Given the description of an element on the screen output the (x, y) to click on. 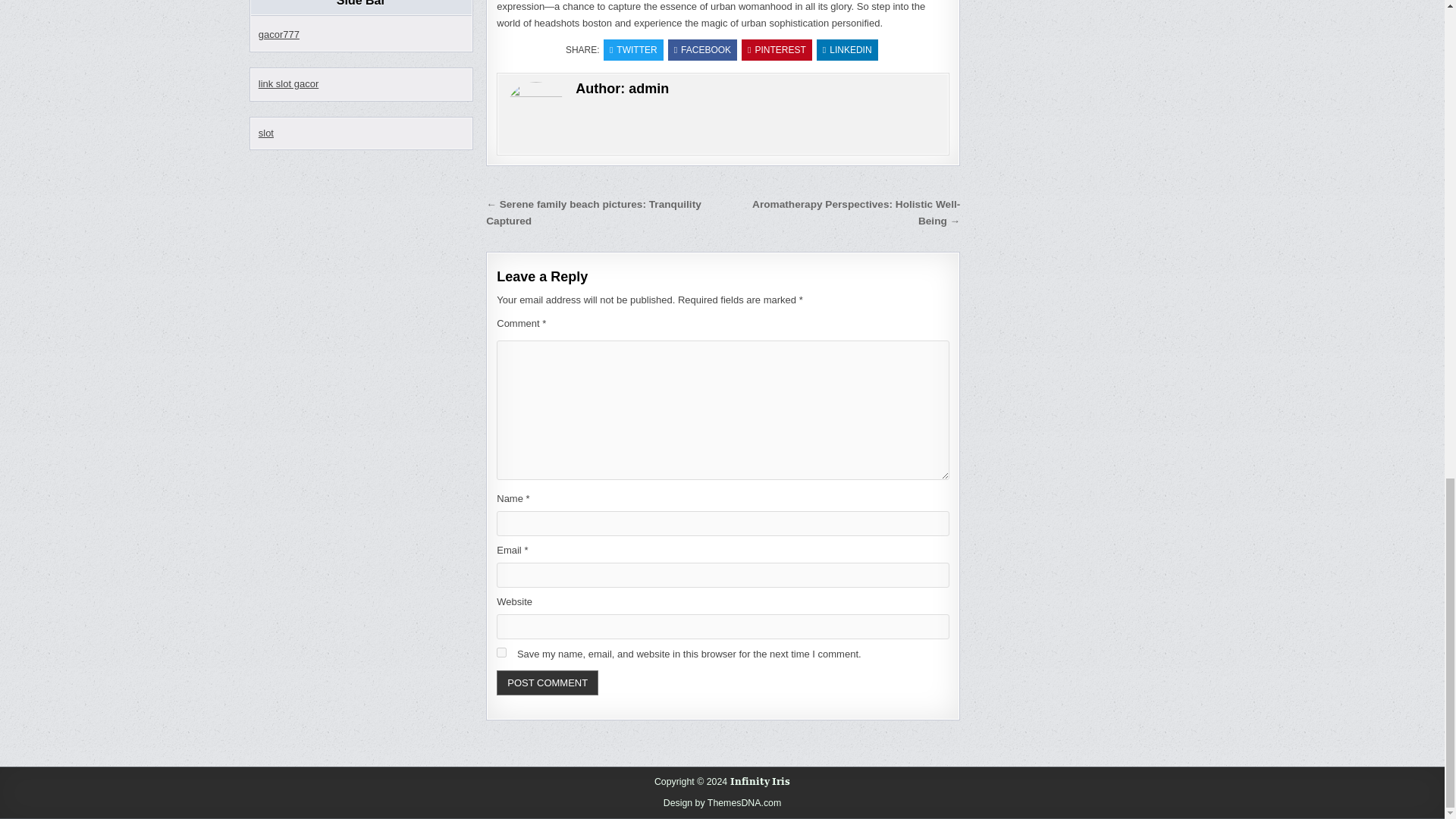
Share this on Linkedin (846, 49)
Post Comment (547, 682)
gacor777 (279, 34)
Share this on Pinterest (776, 49)
link slot gacor (288, 83)
Share this on Facebook (702, 49)
yes (501, 652)
Tweet This! (633, 49)
slot (266, 132)
